Given the description of an element on the screen output the (x, y) to click on. 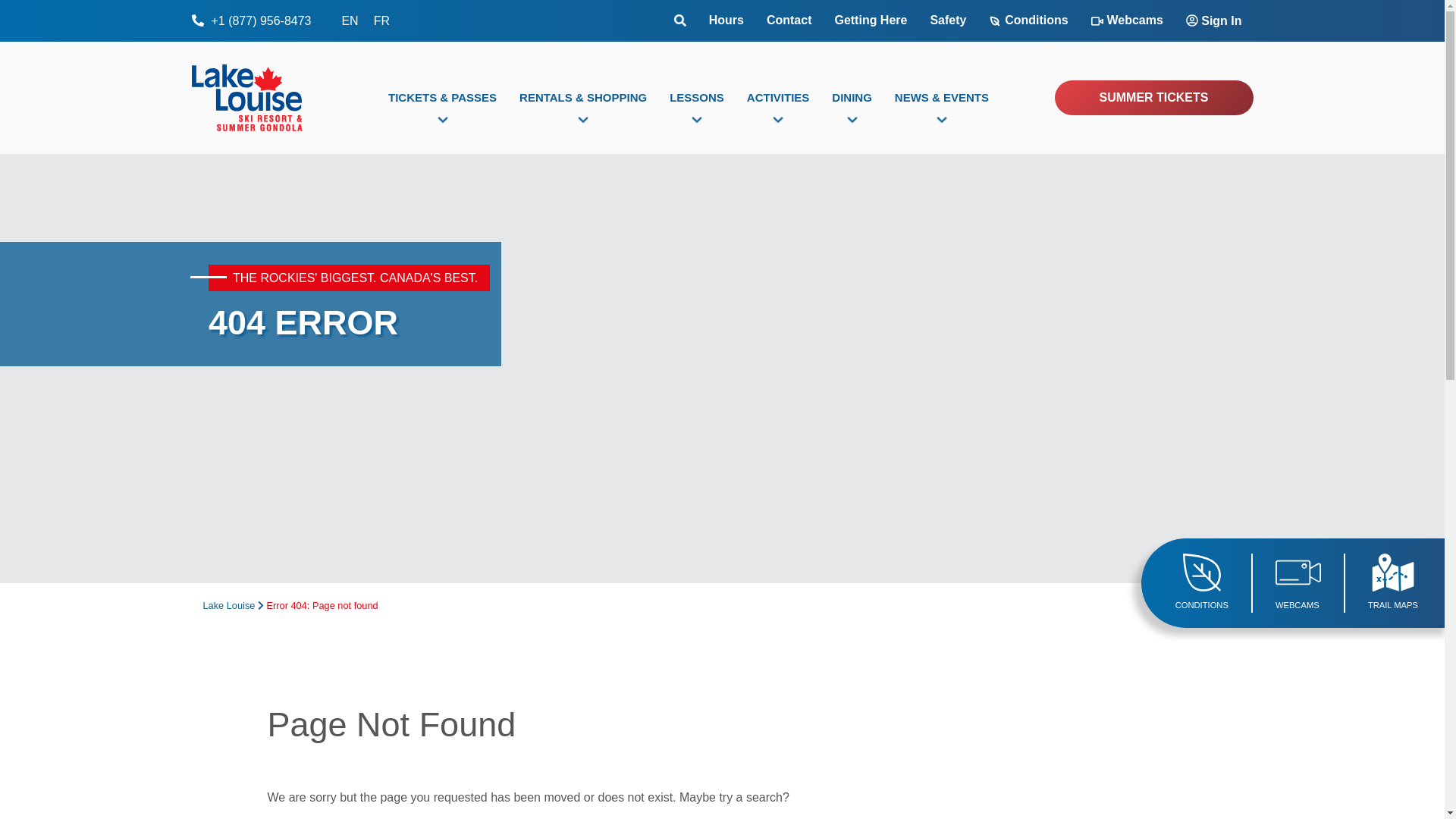
Getting Here (870, 20)
EN (349, 20)
FR (382, 20)
Hours (726, 20)
LESSONS (696, 97)
Webcams (1127, 20)
Conditions (1027, 20)
ACTIVITIES (778, 97)
Sign In (1213, 20)
Contact (789, 20)
Safety (947, 20)
